Given the description of an element on the screen output the (x, y) to click on. 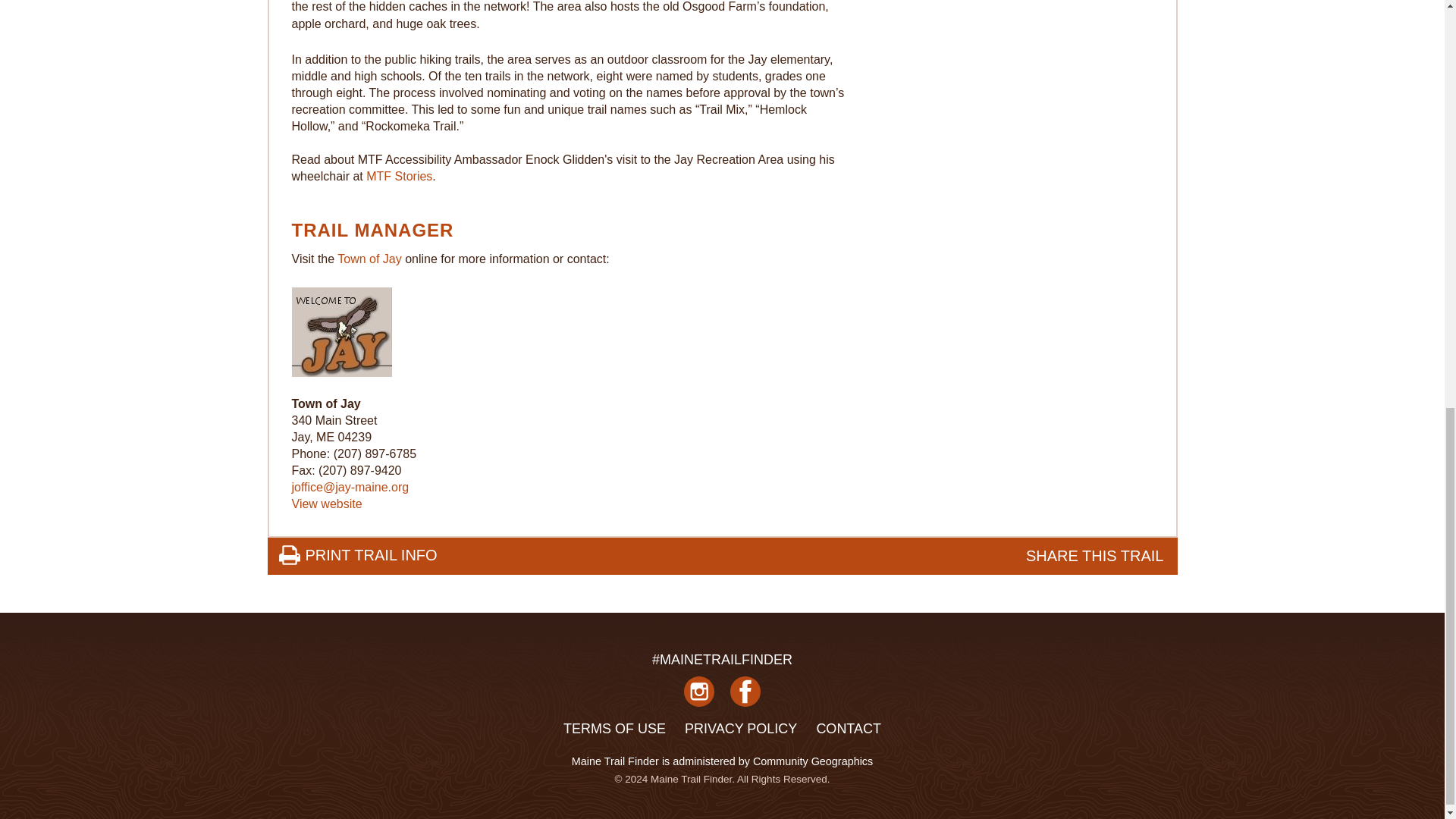
Follow us on Instagram (699, 697)
Follow us on Facebook (745, 697)
